Given the description of an element on the screen output the (x, y) to click on. 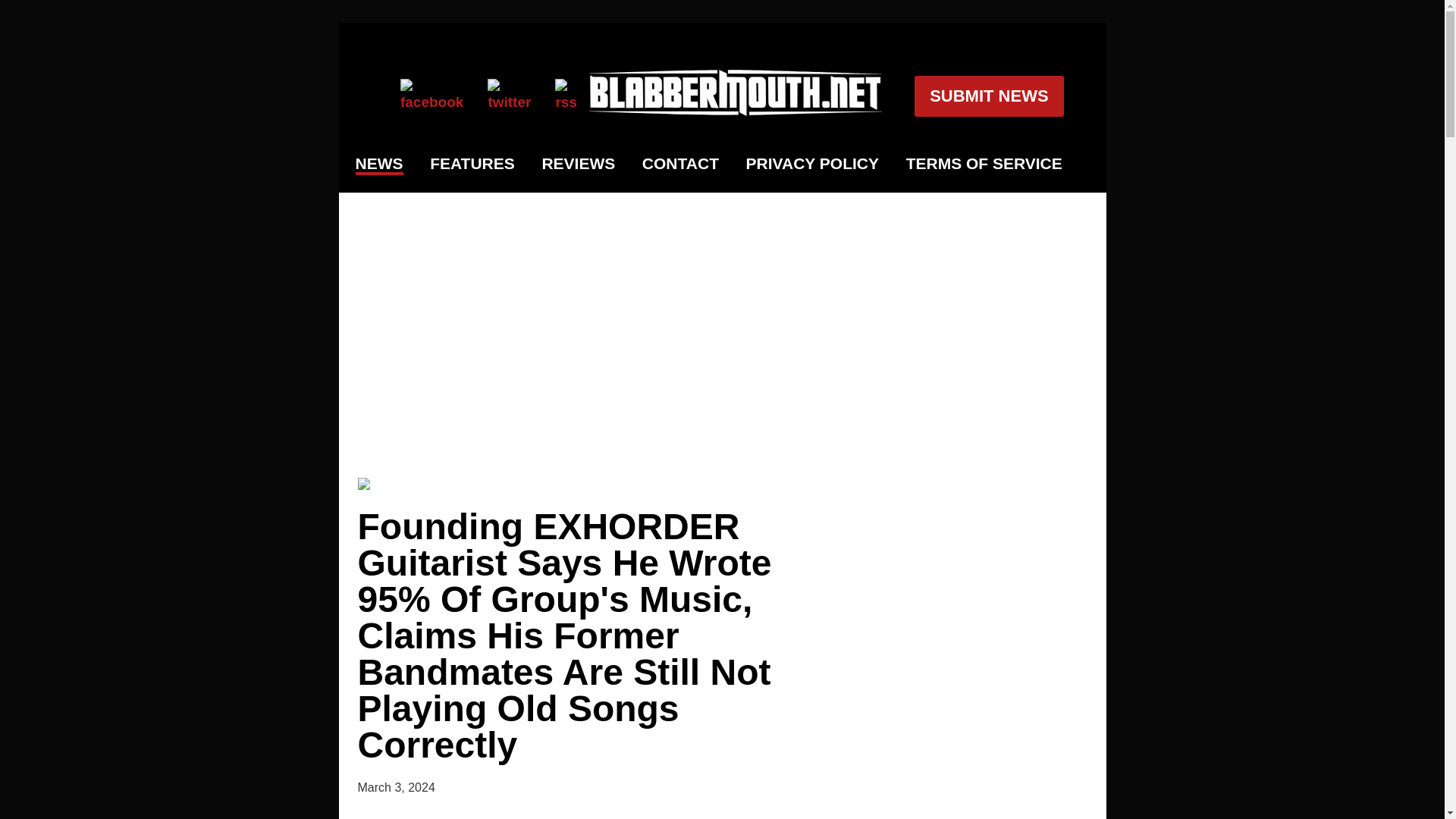
FEATURES (472, 163)
SUBMIT NEWS (988, 96)
NEWS (379, 164)
REVIEWS (577, 163)
CONTACT (680, 163)
PRIVACY POLICY (812, 163)
blabbermouth (735, 110)
TERMS OF SERVICE (983, 163)
